Given the description of an element on the screen output the (x, y) to click on. 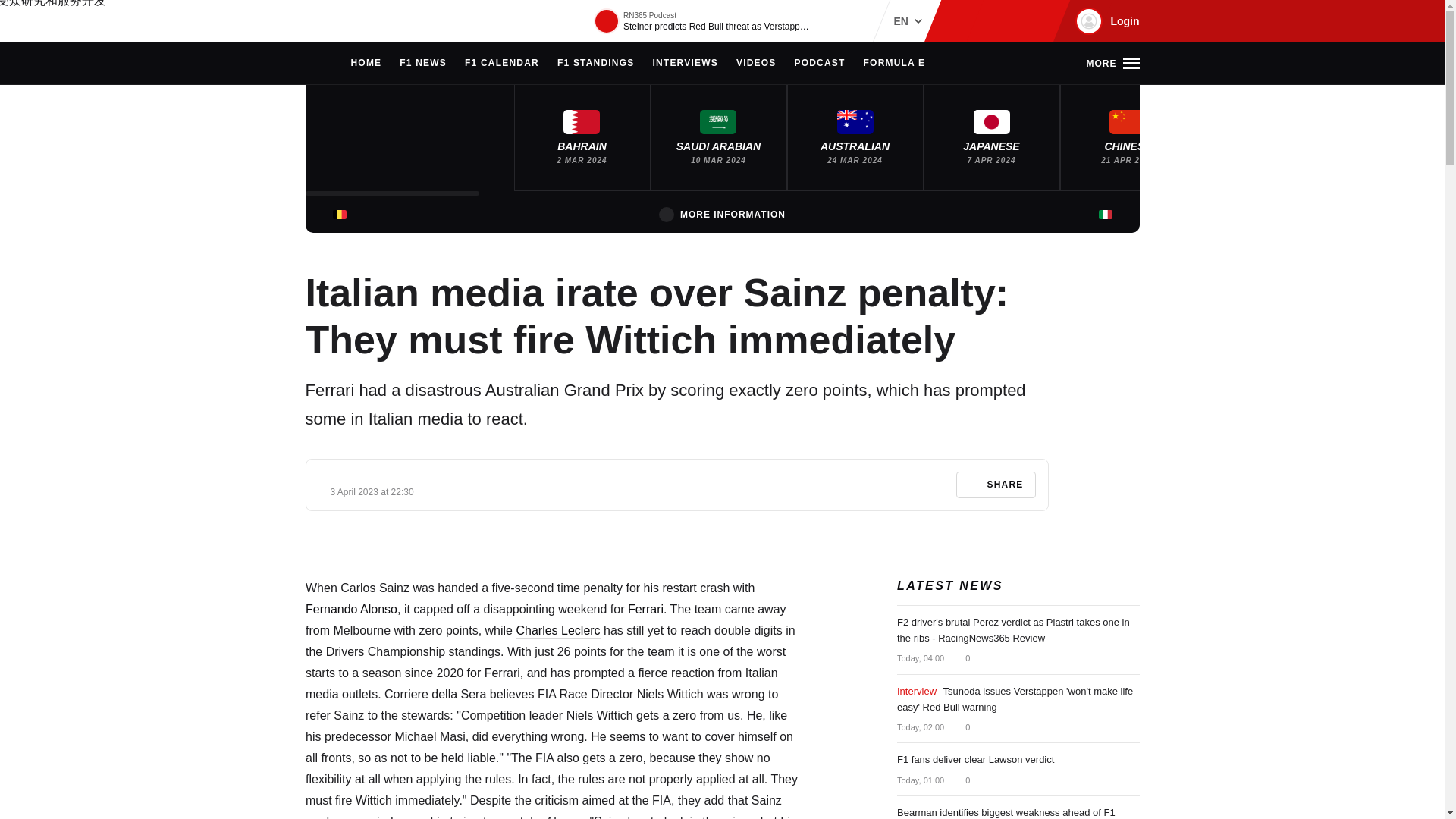
PODCAST (818, 63)
RacingNews365 on Instagram (962, 21)
F1 CALENDAR (501, 63)
MORE INFORMATION (722, 214)
VIDEOS (756, 63)
RacingNews365 on X (1010, 21)
F1 STANDINGS (595, 63)
Monday 3 April 2023 at 22:30 (371, 491)
RacingNews365 on YouTube (1034, 21)
RacingNews365 on Facebook (986, 21)
